Given the description of an element on the screen output the (x, y) to click on. 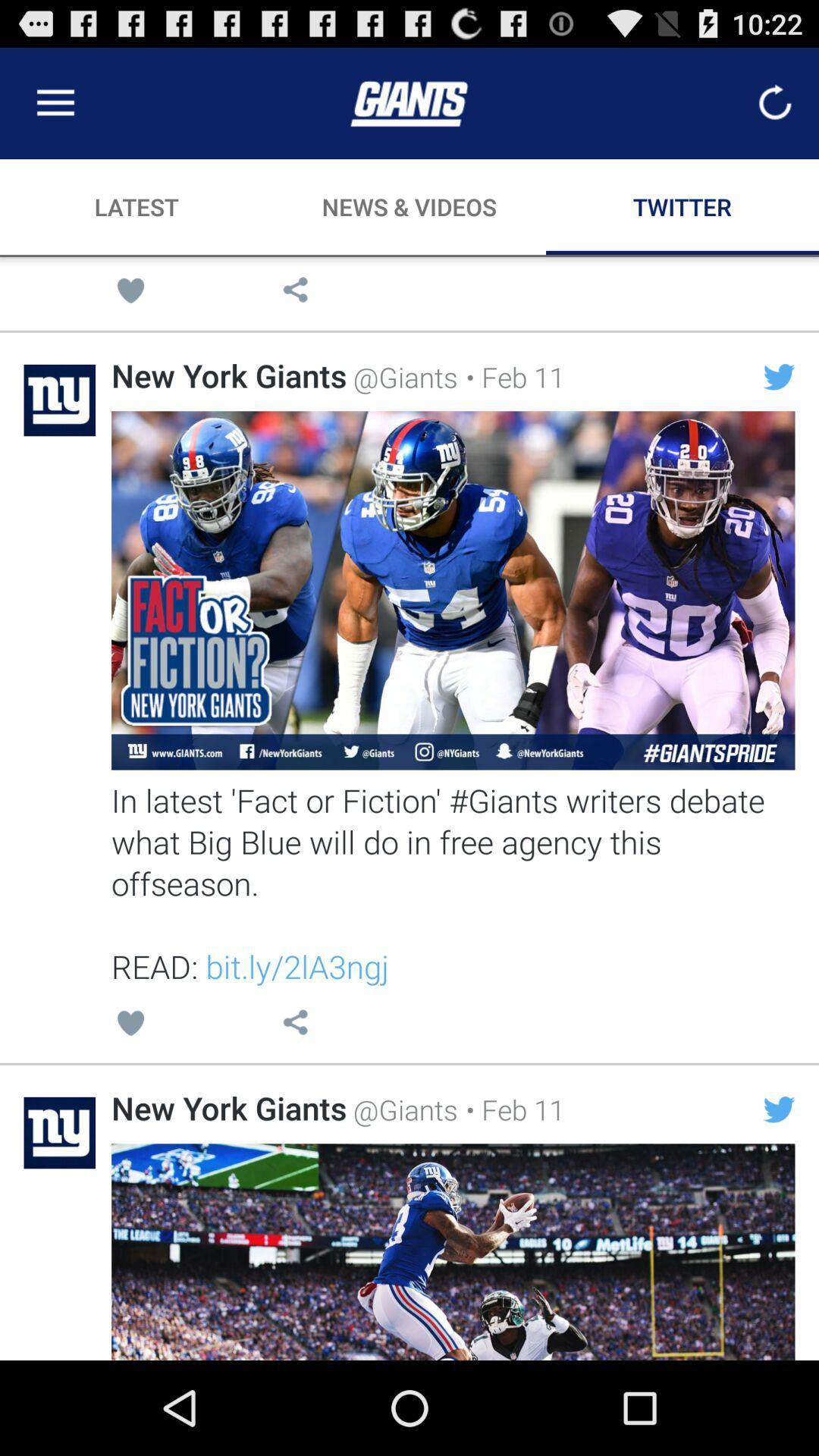
press icon above the latest item (55, 103)
